Given the description of an element on the screen output the (x, y) to click on. 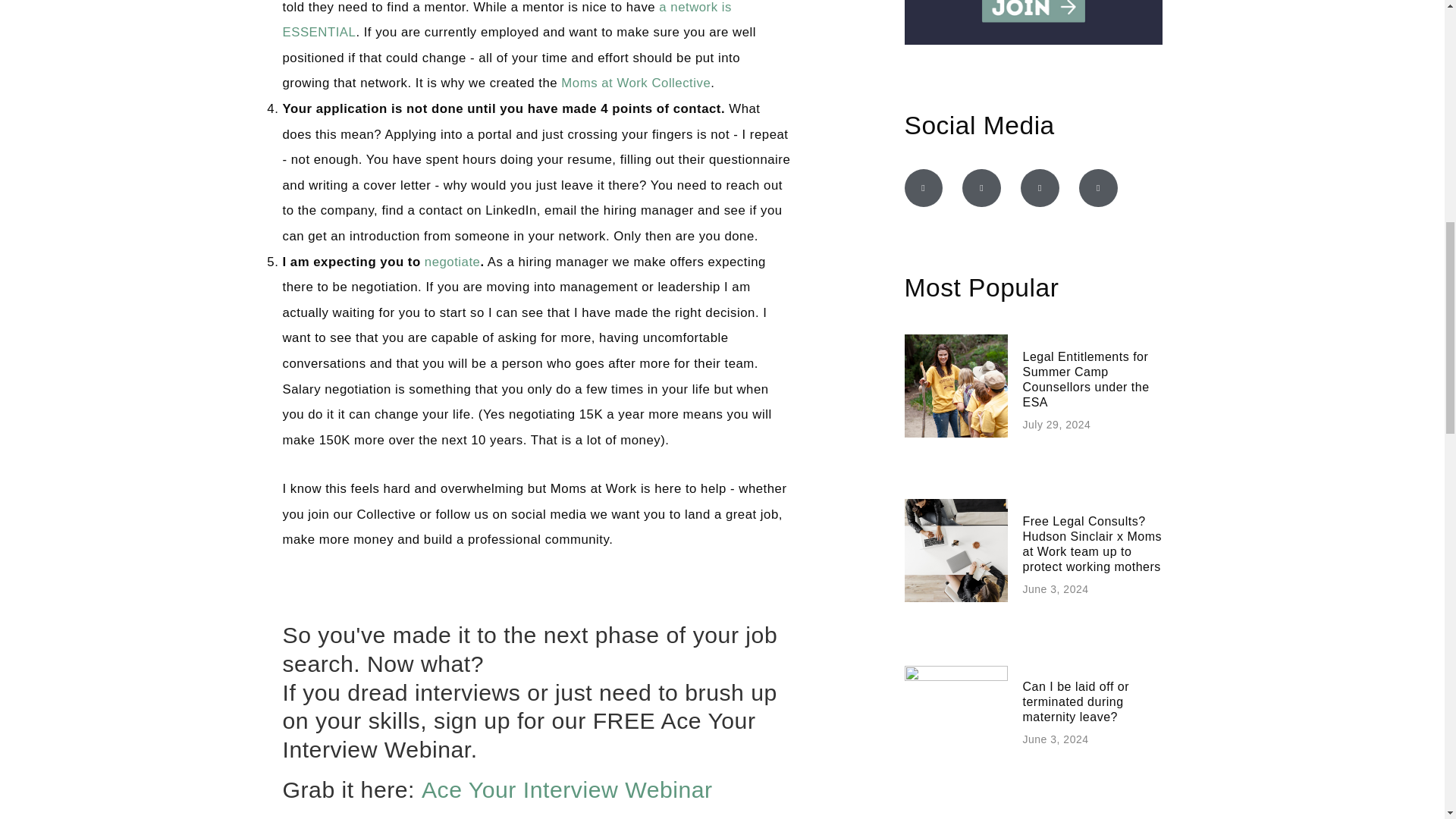
Legal Entitlements for Summer Camp Counsellors under the ESA (1085, 379)
Moms at Work Collective (633, 83)
a network is ESSENTIAL (506, 20)
negotiate (452, 261)
Can I be laid off or terminated during maternity leave? (1075, 701)
Ace Your Interview Webinar (567, 789)
